Given the description of an element on the screen output the (x, y) to click on. 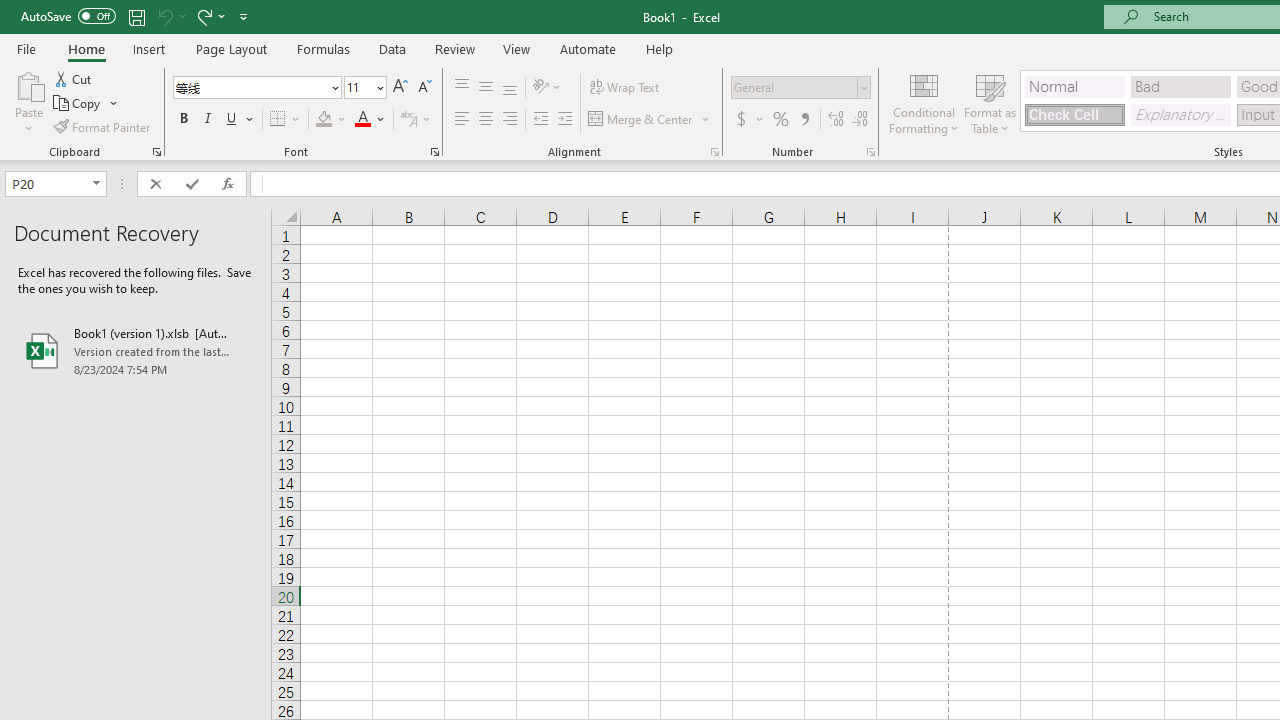
Decrease Indent (540, 119)
Conditional Formatting (924, 102)
Number Format (800, 87)
Help (660, 48)
Paste (28, 102)
